Given the description of an element on the screen output the (x, y) to click on. 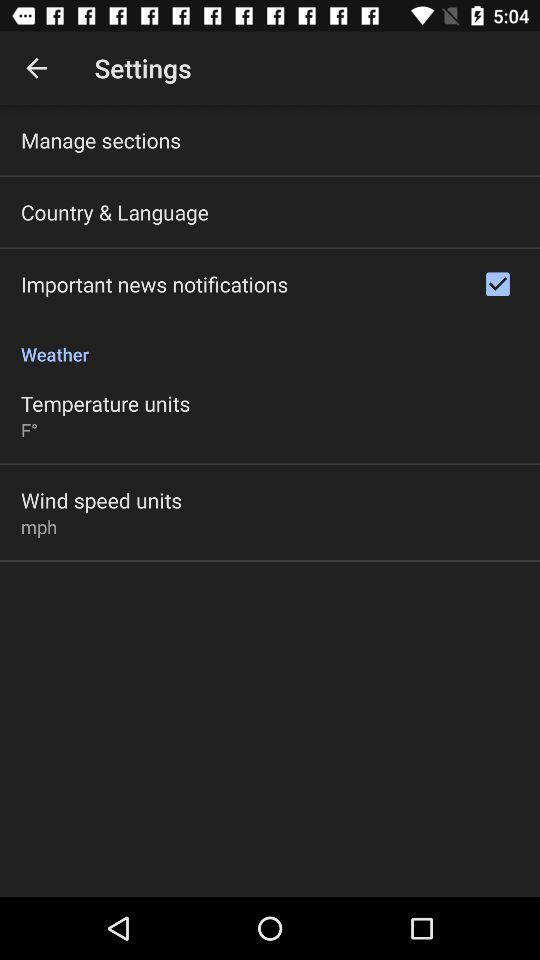
choose the wind speed units icon (101, 500)
